Given the description of an element on the screen output the (x, y) to click on. 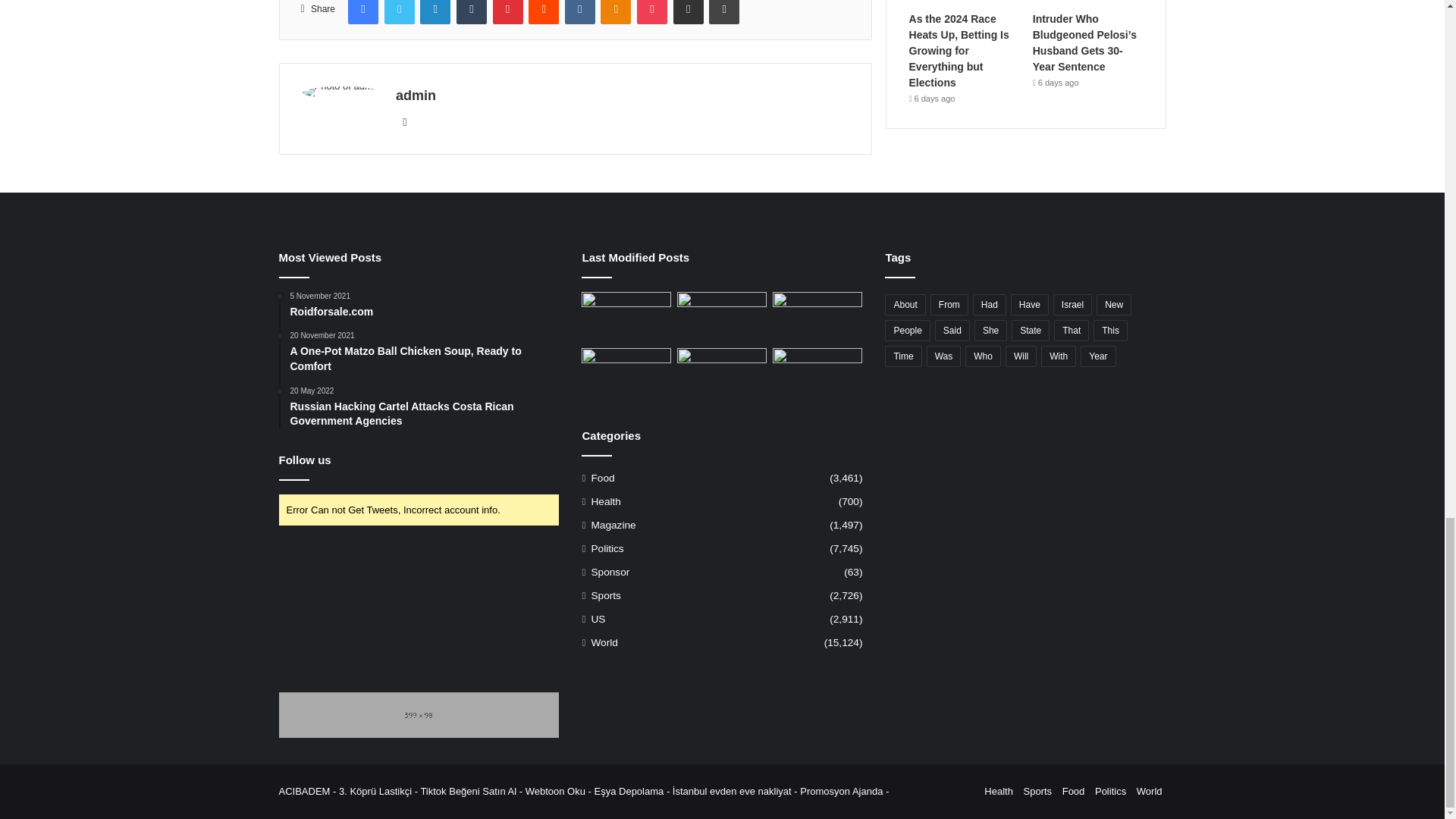
Tumblr (471, 12)
Facebook (362, 12)
Twitter (399, 12)
LinkedIn (434, 12)
Reddit (543, 12)
Pinterest (507, 12)
VKontakte (579, 12)
